Given the description of an element on the screen output the (x, y) to click on. 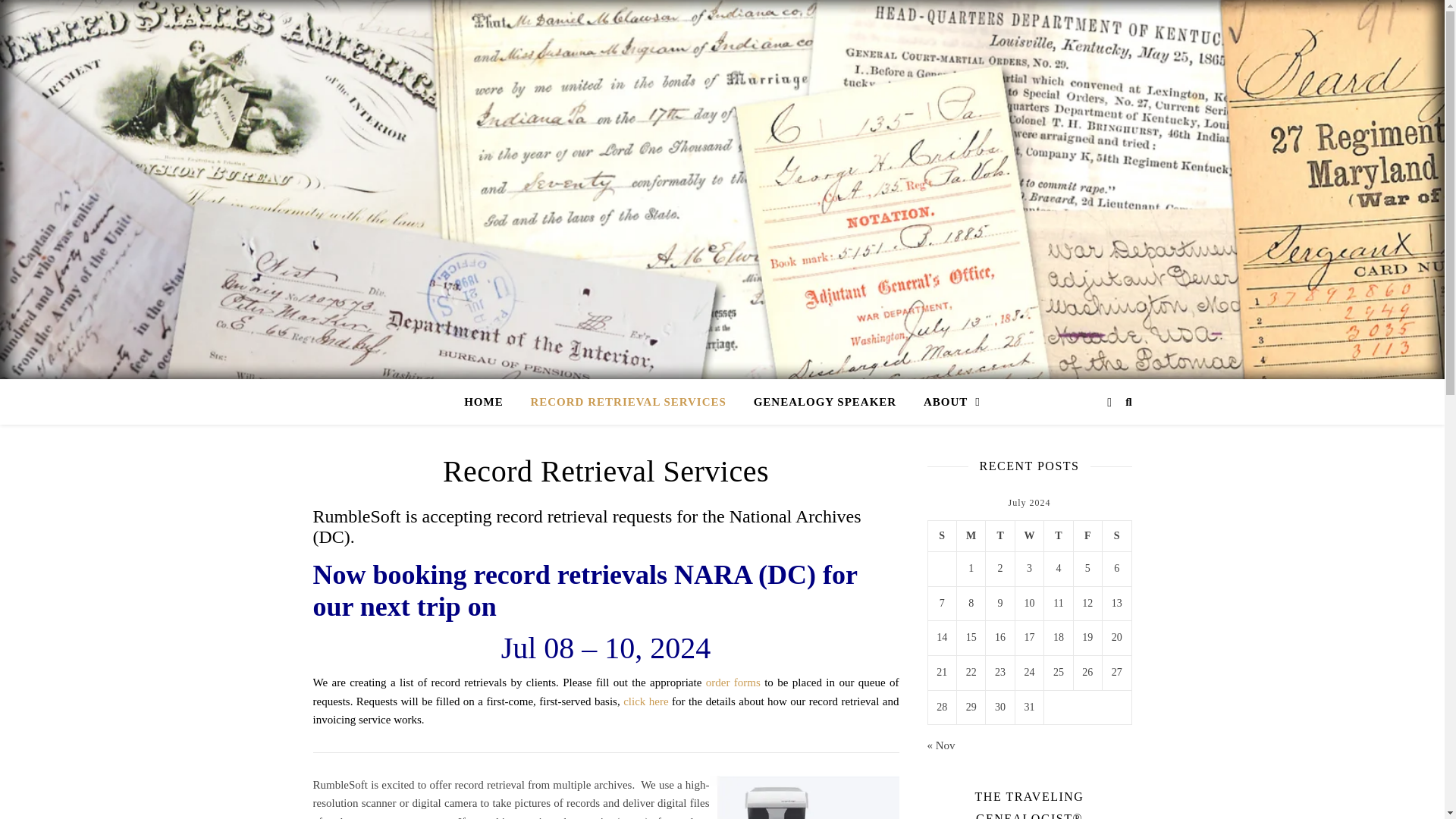
RECORD RETRIEVAL SERVICES (628, 402)
Wednesday (1028, 536)
ABOUT (945, 402)
GENEALOGY SPEAKER (824, 402)
Monday (970, 536)
click here (645, 701)
order forms (733, 682)
Friday (1087, 536)
Saturday (1116, 536)
HOME (489, 402)
Sunday (941, 536)
Tuesday (999, 536)
Thursday (1058, 536)
